Given the description of an element on the screen output the (x, y) to click on. 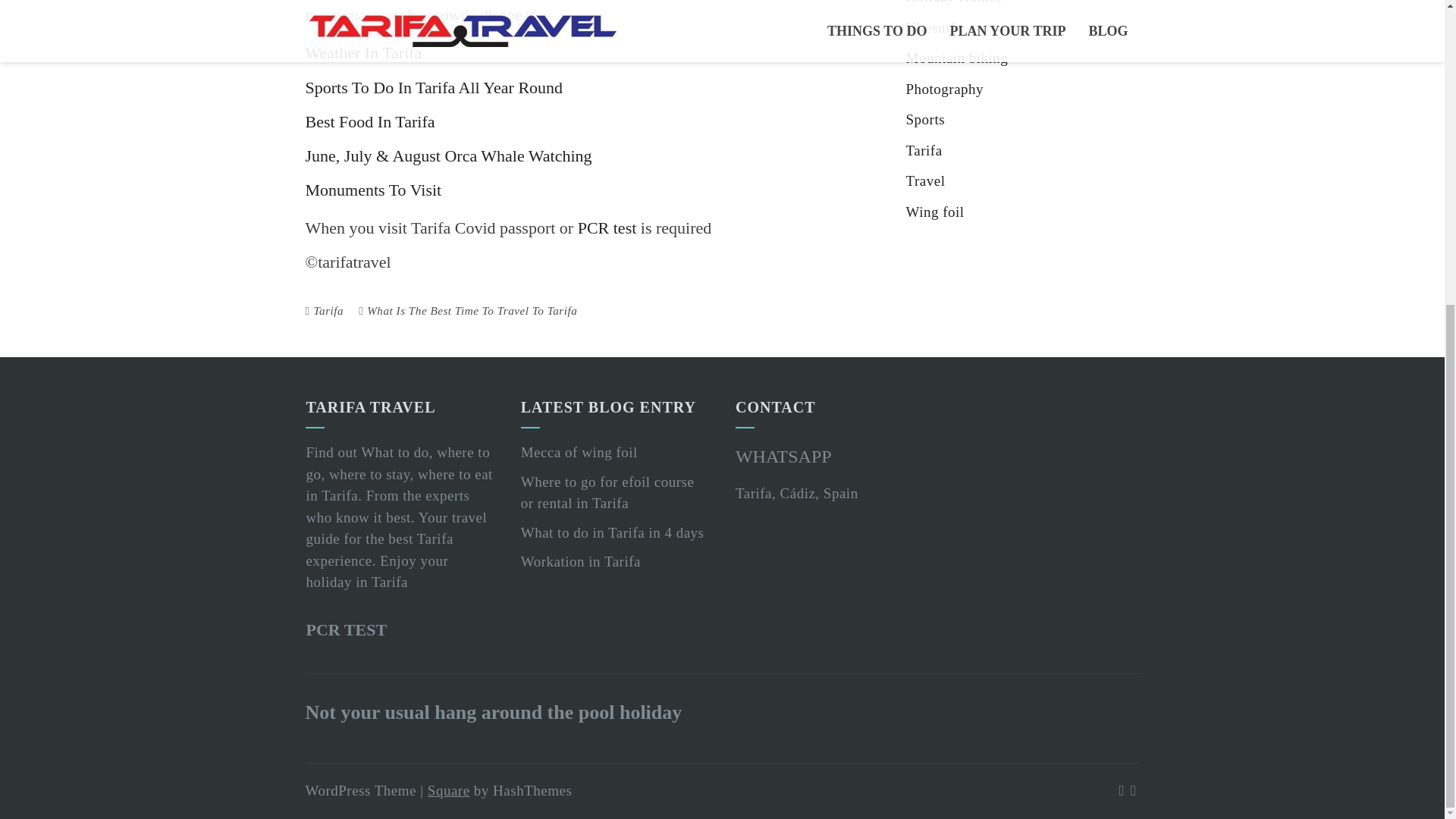
Travel (924, 180)
Weather In Tarifa (363, 52)
Best Food In Tarifa (368, 121)
PCR test (609, 227)
Wing foil (934, 211)
Photography (944, 89)
Tarifa (923, 150)
Tarifa (328, 309)
Holiday Homes (953, 2)
PCR TEST (346, 629)
Mecca of wing foil (579, 452)
Monuments To Visit (372, 189)
Sports (924, 119)
Kitesurf (930, 27)
Mountain biking (956, 57)
